Given the description of an element on the screen output the (x, y) to click on. 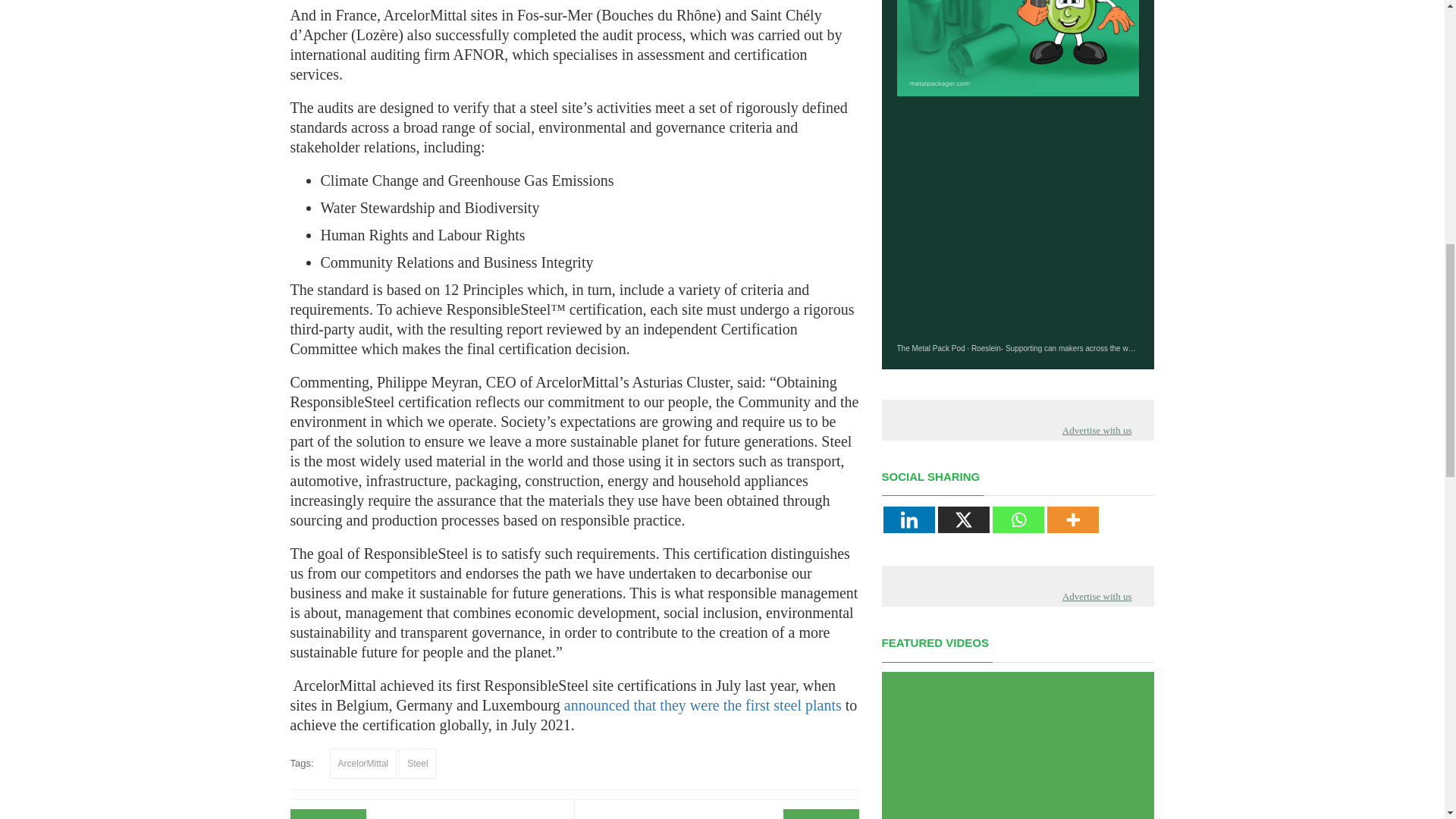
prev post (677, 817)
Steel (416, 763)
New appointment at Roeslein in Asia (677, 817)
The Metal Pack Pod (929, 347)
ArcelorMittal (363, 763)
prev post (470, 817)
announced that they were the first steel plants (702, 704)
